Given the description of an element on the screen output the (x, y) to click on. 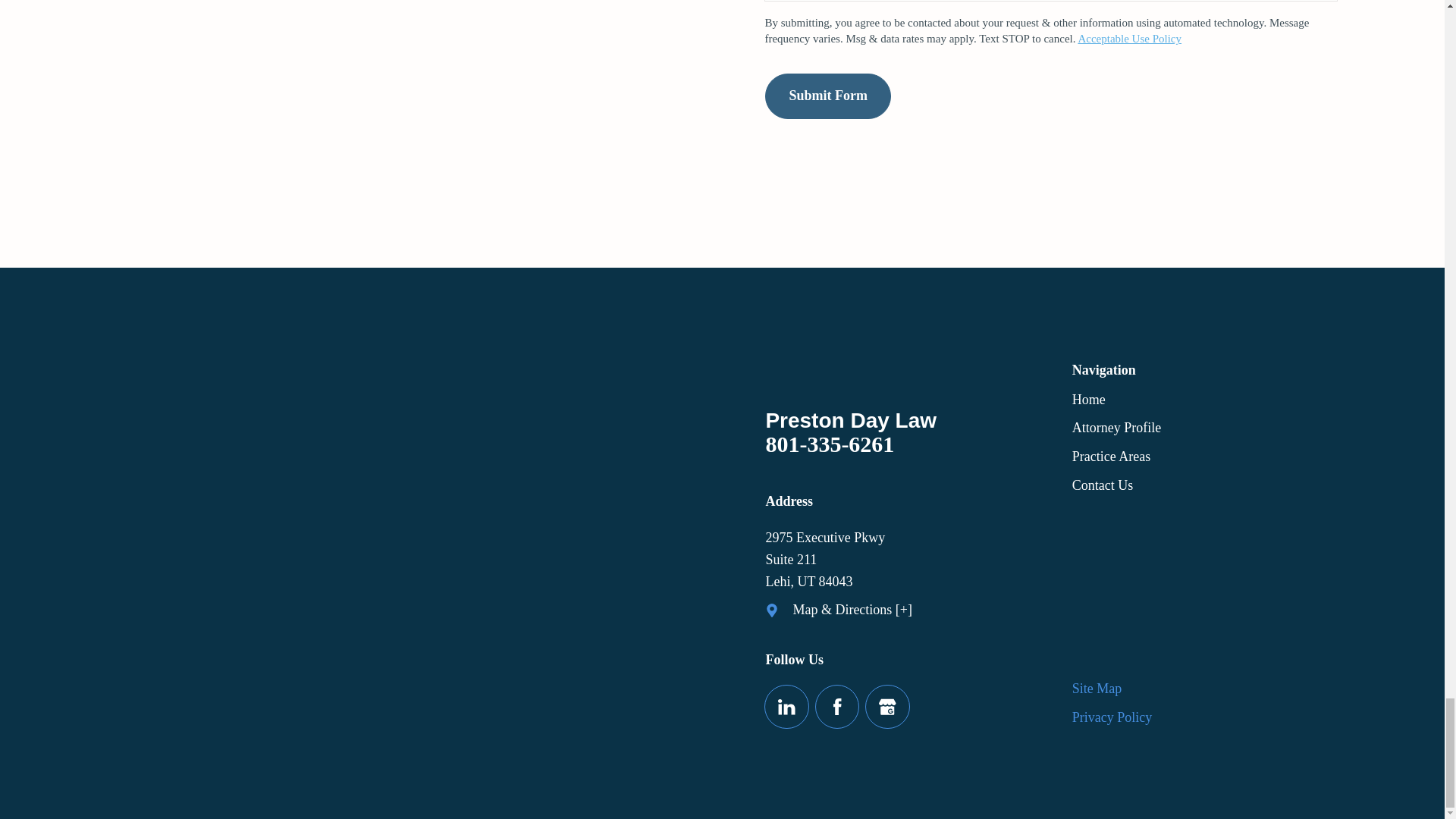
Facebook (837, 706)
LinkedIn (786, 706)
Google Business Profile (887, 706)
